Given the description of an element on the screen output the (x, y) to click on. 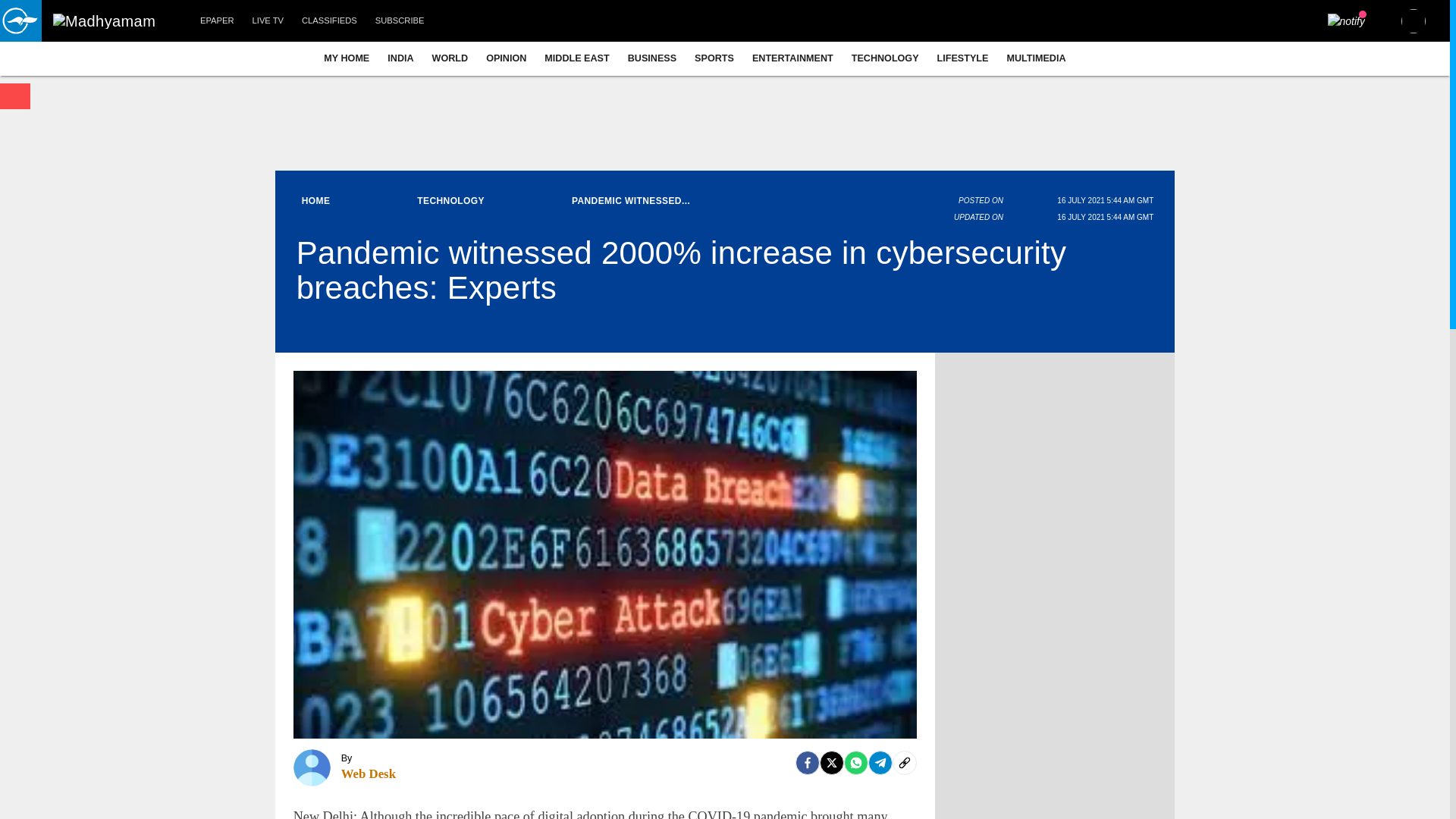
MIDDLE EAST (576, 58)
SPORTS (713, 58)
ENTERTAINMENT (792, 58)
CLASSIFIEDS (329, 20)
notify (1346, 20)
SUBSCRIBE (399, 20)
EPAPER (216, 20)
BUSINESS (651, 58)
OPINION (506, 58)
MY HOME (346, 58)
